Given the description of an element on the screen output the (x, y) to click on. 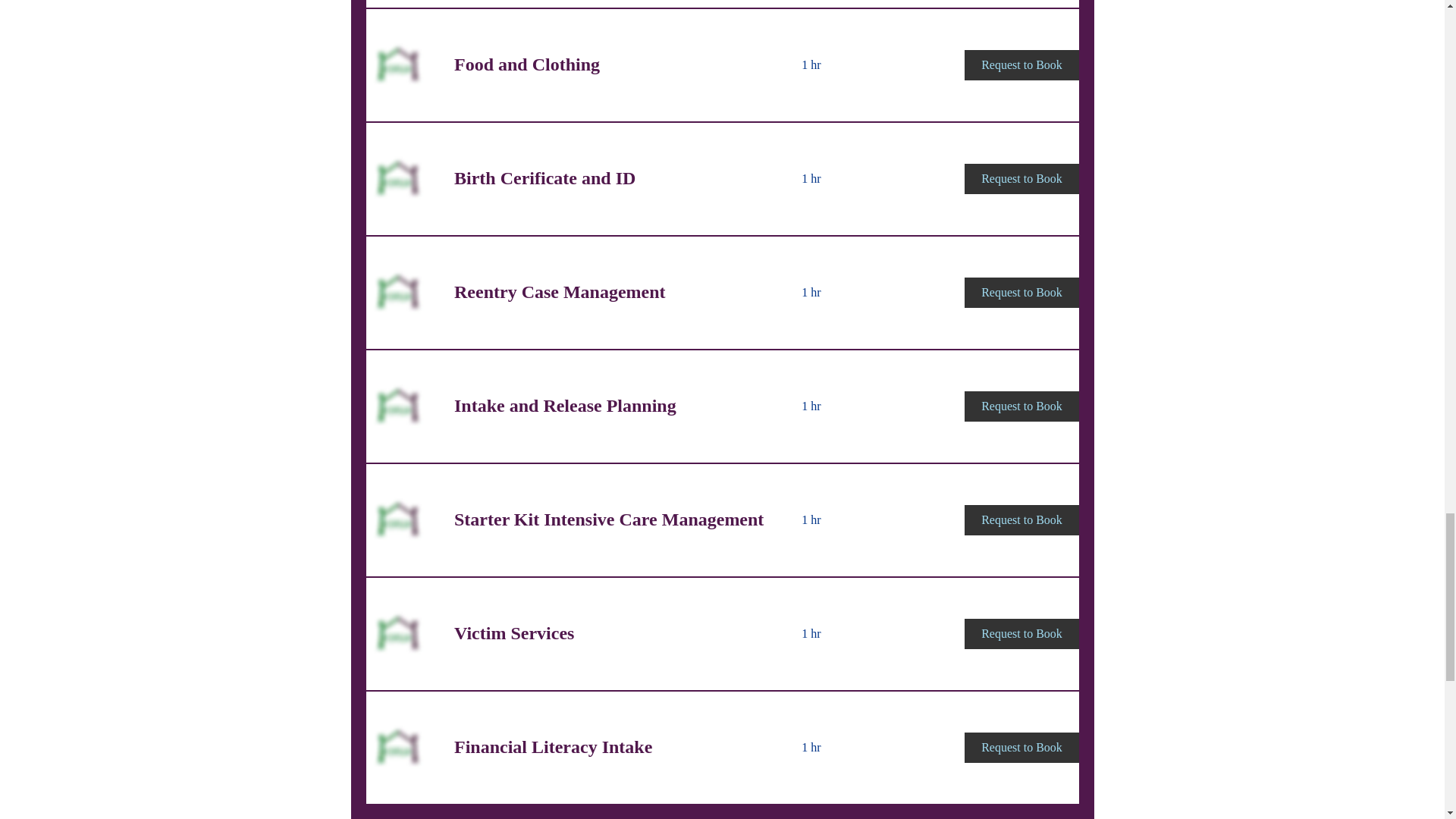
Birth Cerificate and ID (608, 178)
Request to Book (1020, 64)
Food and Clothing (608, 64)
